Given the description of an element on the screen output the (x, y) to click on. 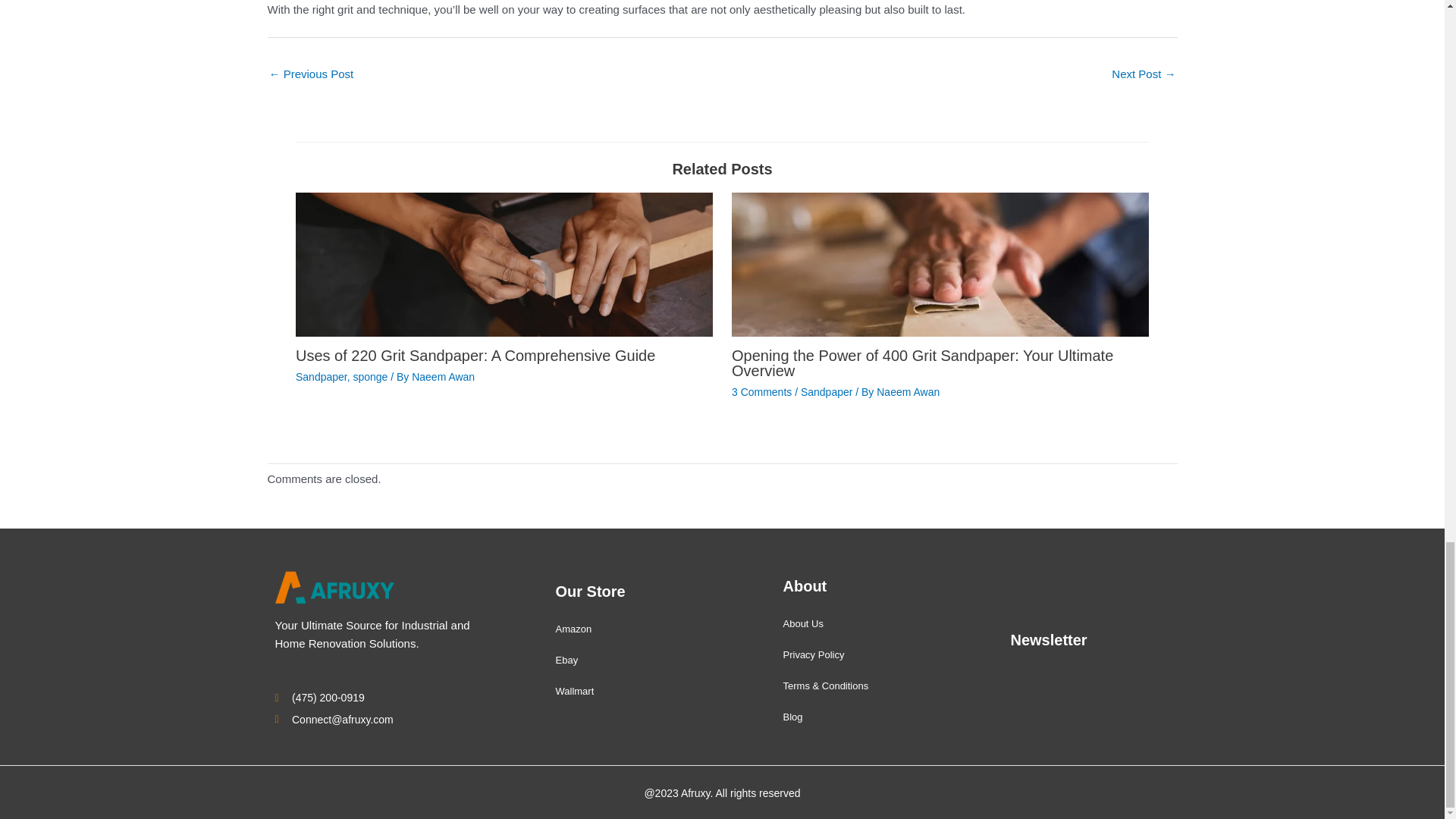
View all posts by Naeem Awan (907, 391)
View all posts by Naeem Awan (443, 377)
